Given the description of an element on the screen output the (x, y) to click on. 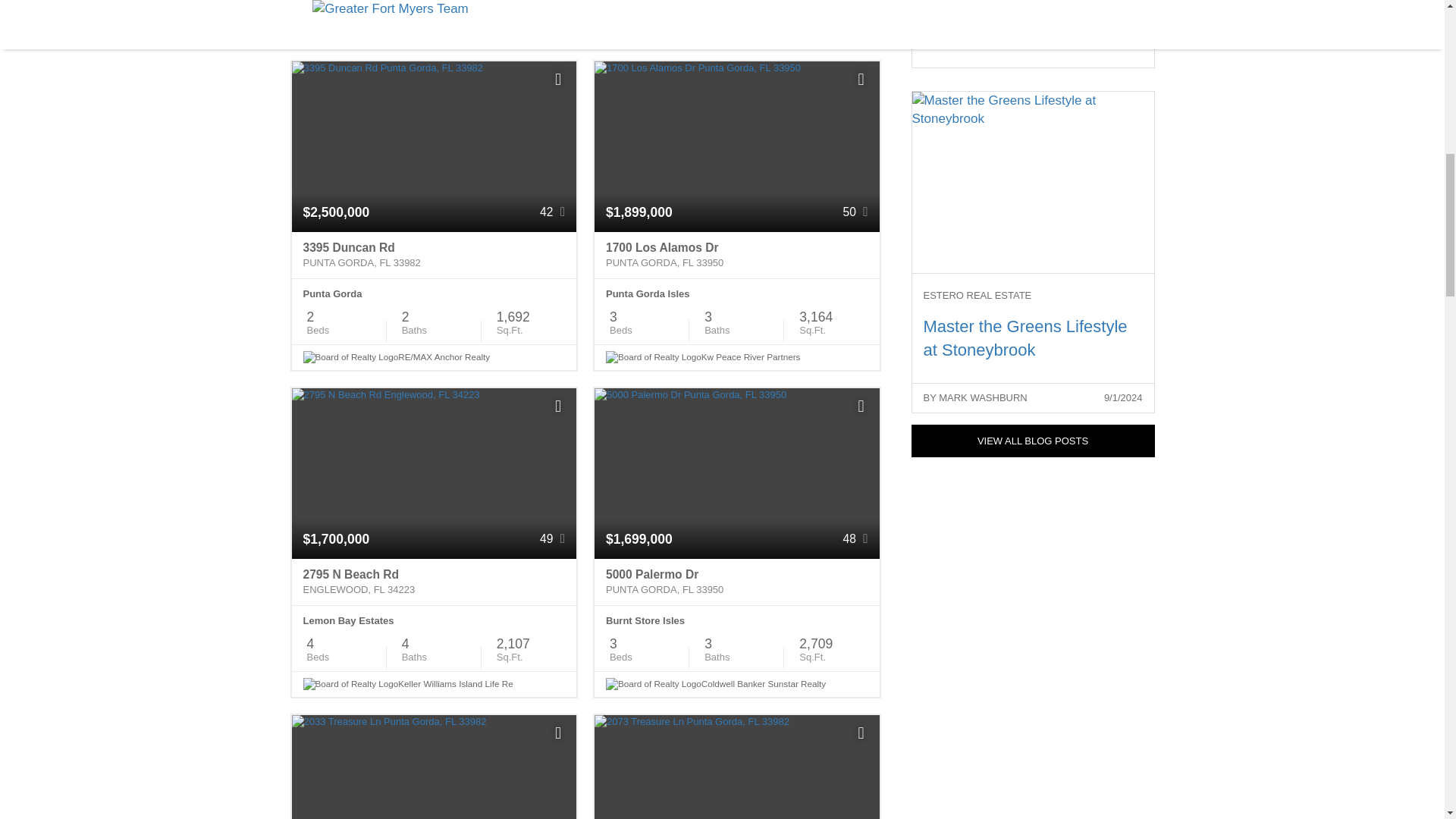
1700 Los Alamos Dr Punta Gorda,  FL 33950 (736, 255)
3395 Duncan Rd Punta Gorda,  FL 33982 (433, 255)
2795 N Beach Rd Englewood,  FL 34223 (433, 582)
